Given the description of an element on the screen output the (x, y) to click on. 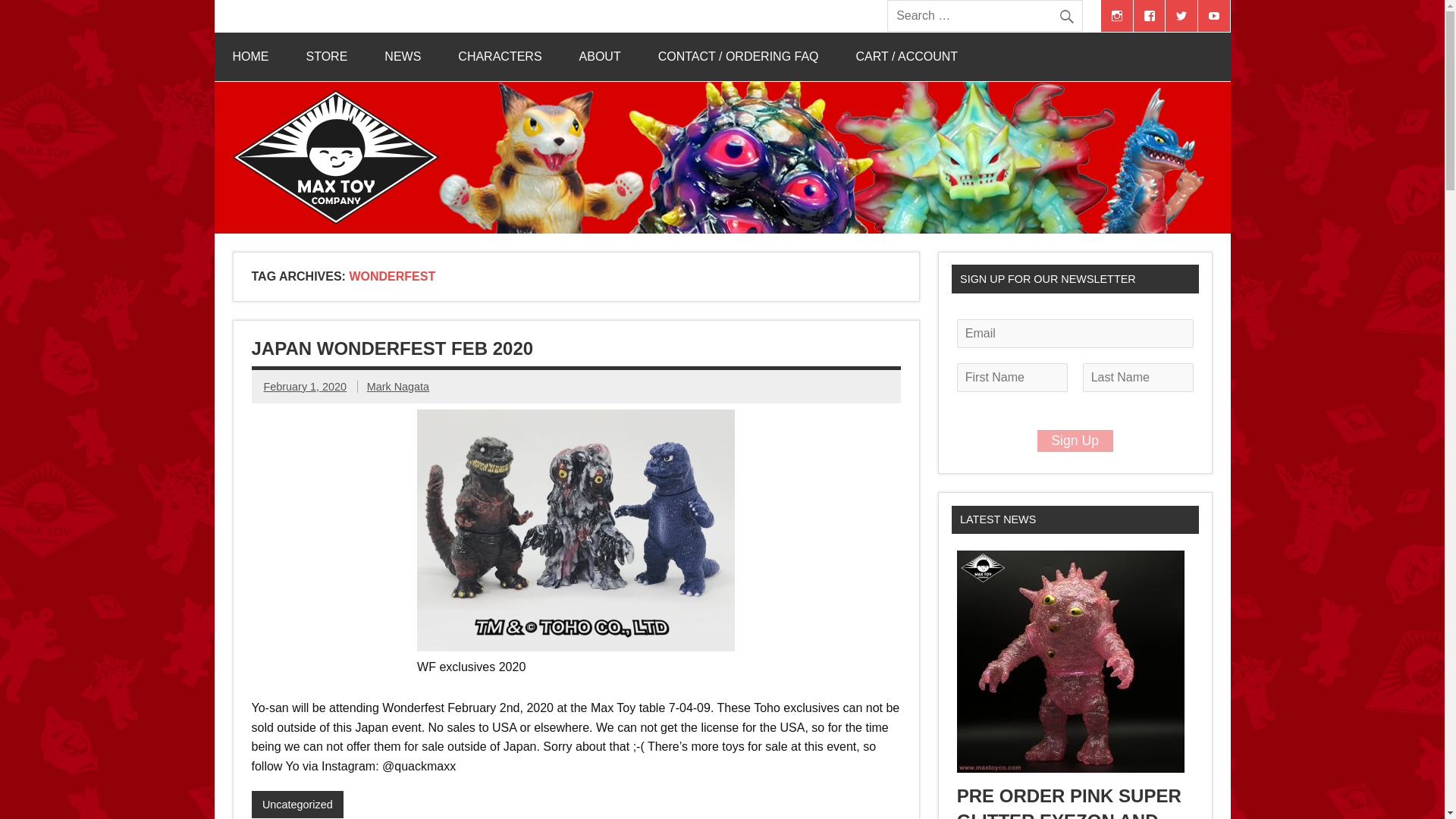
Pre Order Pink Super Glitter Eyezon and More ! (1068, 802)
NEWS (402, 56)
HOME (250, 56)
View all posts by Mark Nagata (397, 386)
Store (327, 56)
3:10 pm (305, 386)
CHARACTERS (499, 56)
Pre Order Pink Super Glitter Eyezon and More ! (1070, 768)
STORE (327, 56)
